Given the description of an element on the screen output the (x, y) to click on. 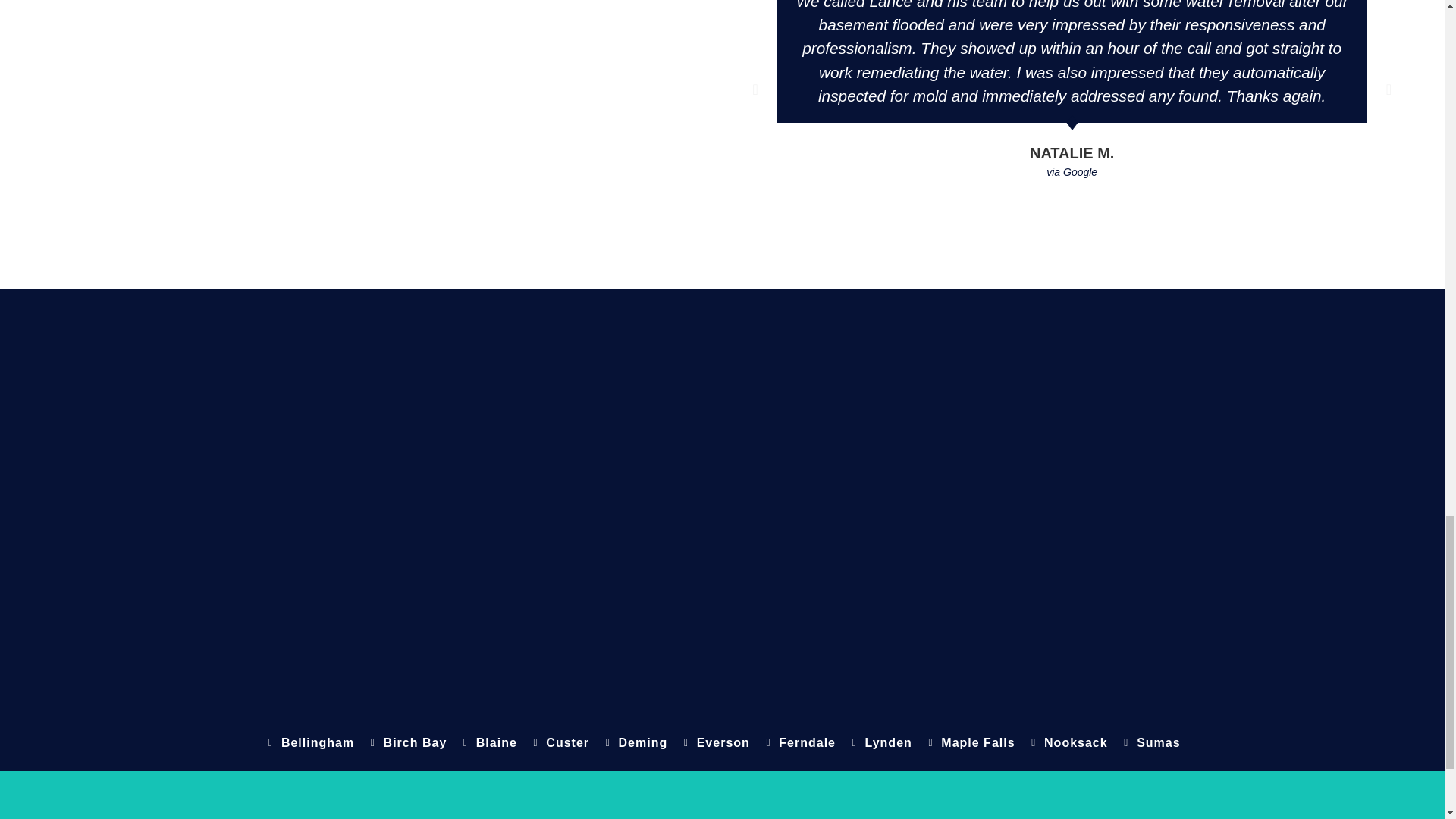
Custer (559, 742)
Blaine (487, 742)
Bellingham (308, 742)
Deming (633, 742)
Everson (714, 742)
Maple Falls (969, 742)
Nooksack (1067, 742)
Ferndale (798, 742)
Sumas (1149, 742)
Birch Bay (406, 742)
Lynden (879, 742)
